Given the description of an element on the screen output the (x, y) to click on. 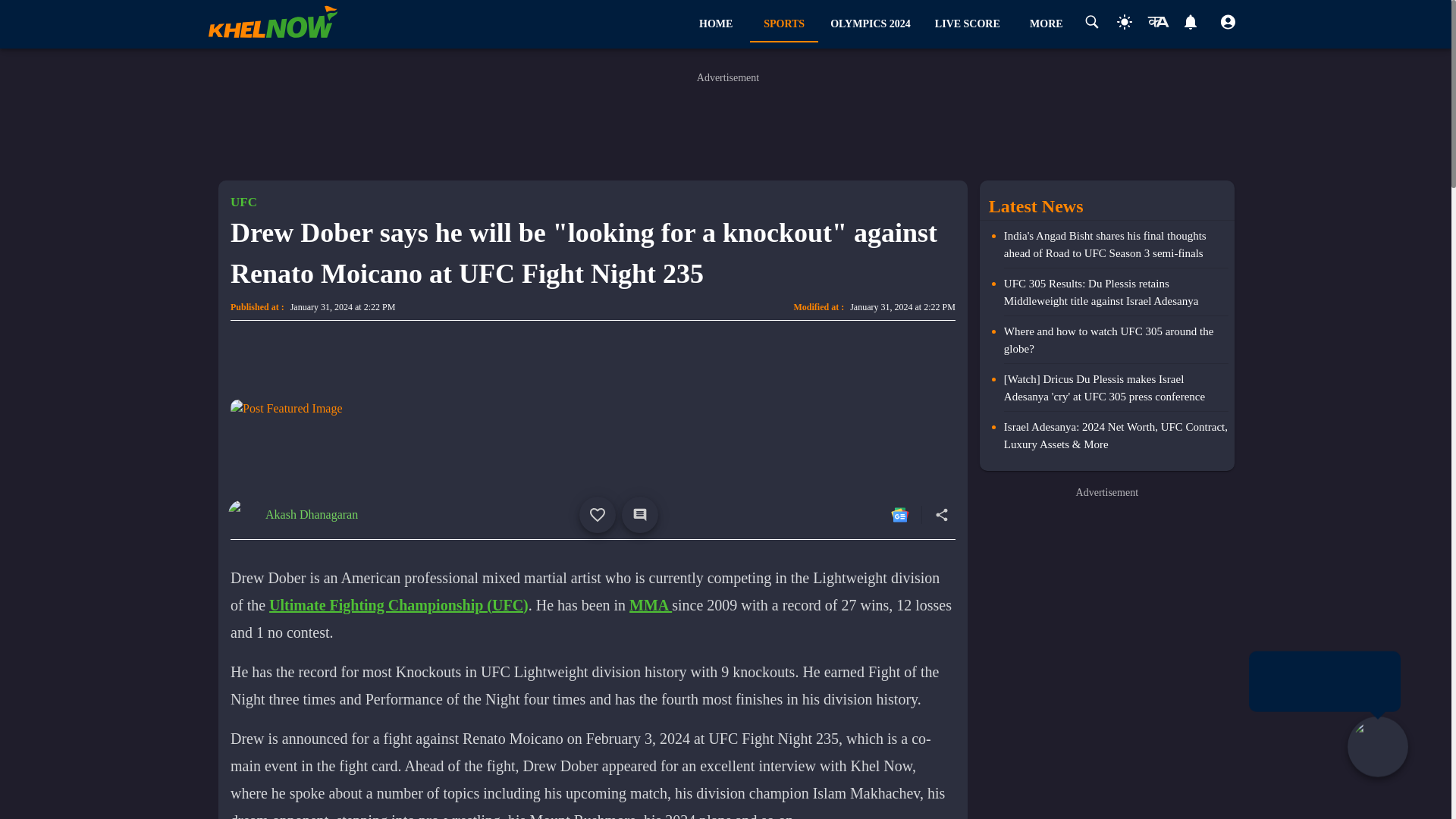
MORE (1045, 23)
Akash Dhanagaran (311, 513)
HOME (715, 23)
OLYMPICS 2024 (870, 23)
UFC (243, 202)
MMA (649, 604)
SPORTS (783, 23)
Where and how to watch UFC 305 around the globe? (880, 23)
